Given the description of an element on the screen output the (x, y) to click on. 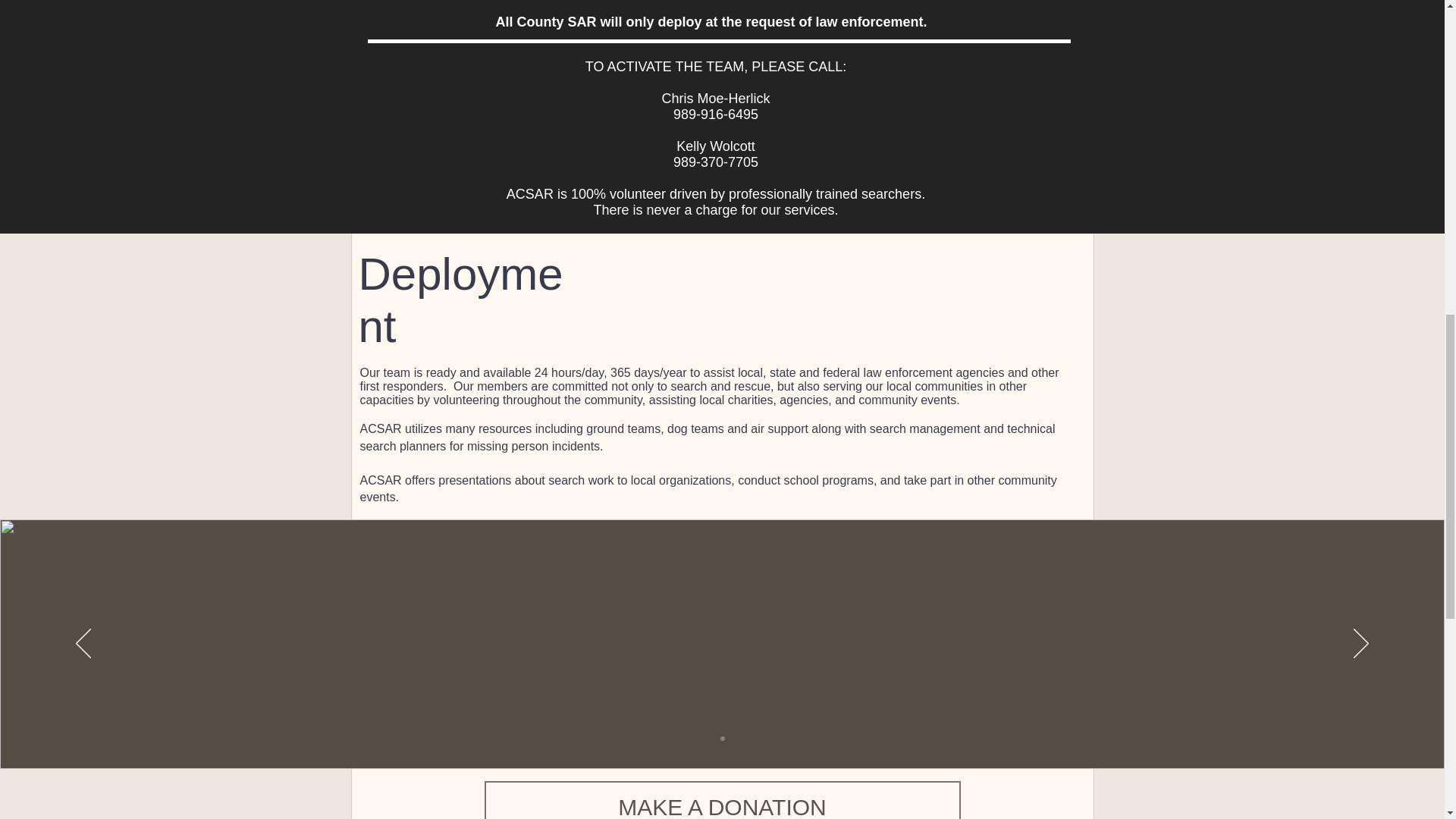
MAKE A DONATION (721, 800)
